Given the description of an element on the screen output the (x, y) to click on. 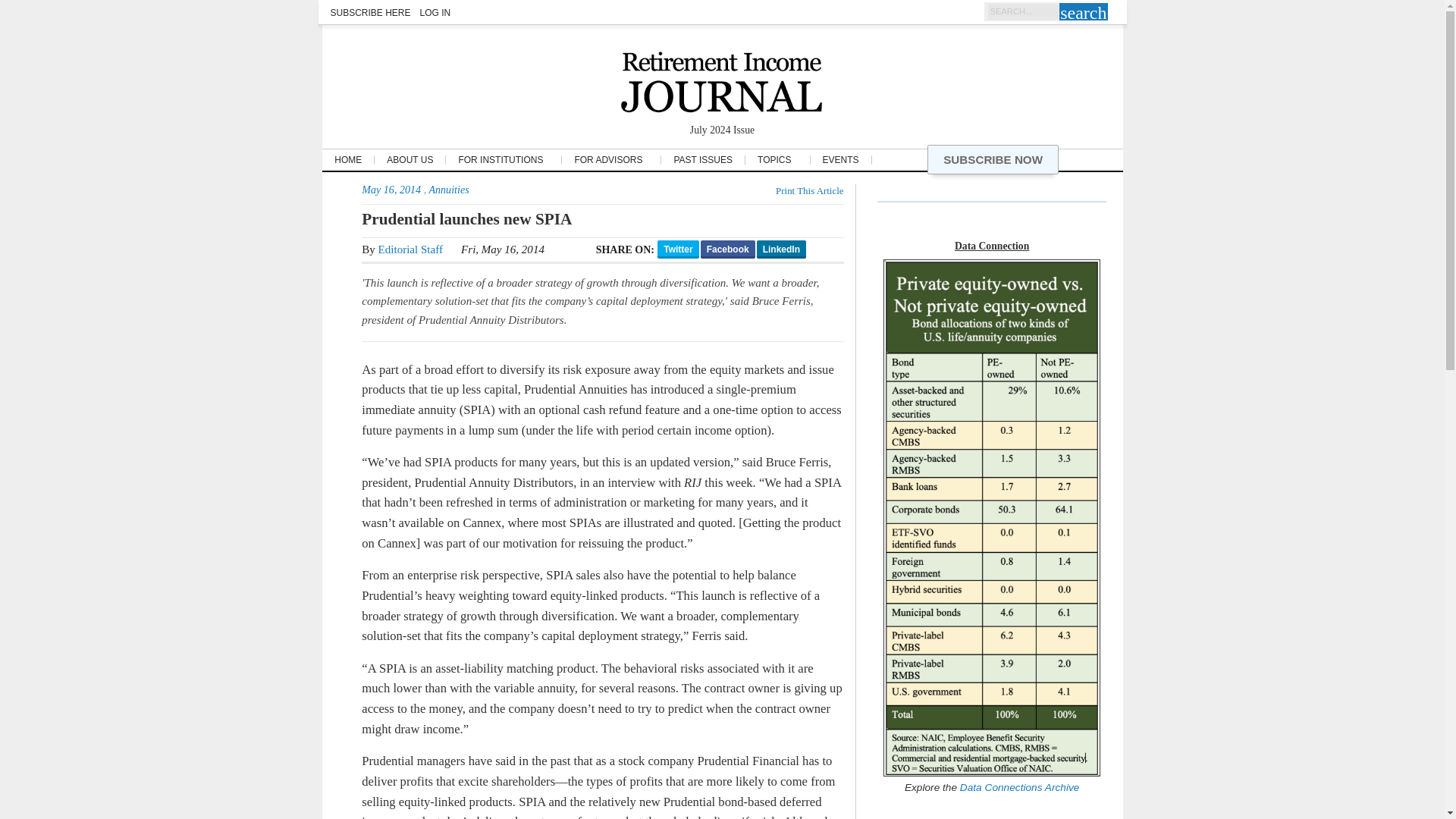
LOG IN (434, 11)
SUBSCRIBE HERE (370, 11)
See More Recent Data Connections (1017, 787)
FOR INSTITUTIONS (503, 159)
search (1082, 12)
SUBSCRIBE (992, 159)
ABOUT US (409, 159)
Search for: (1021, 11)
HOME (347, 159)
View all articles by Editorial Staff (410, 249)
